Given the description of an element on the screen output the (x, y) to click on. 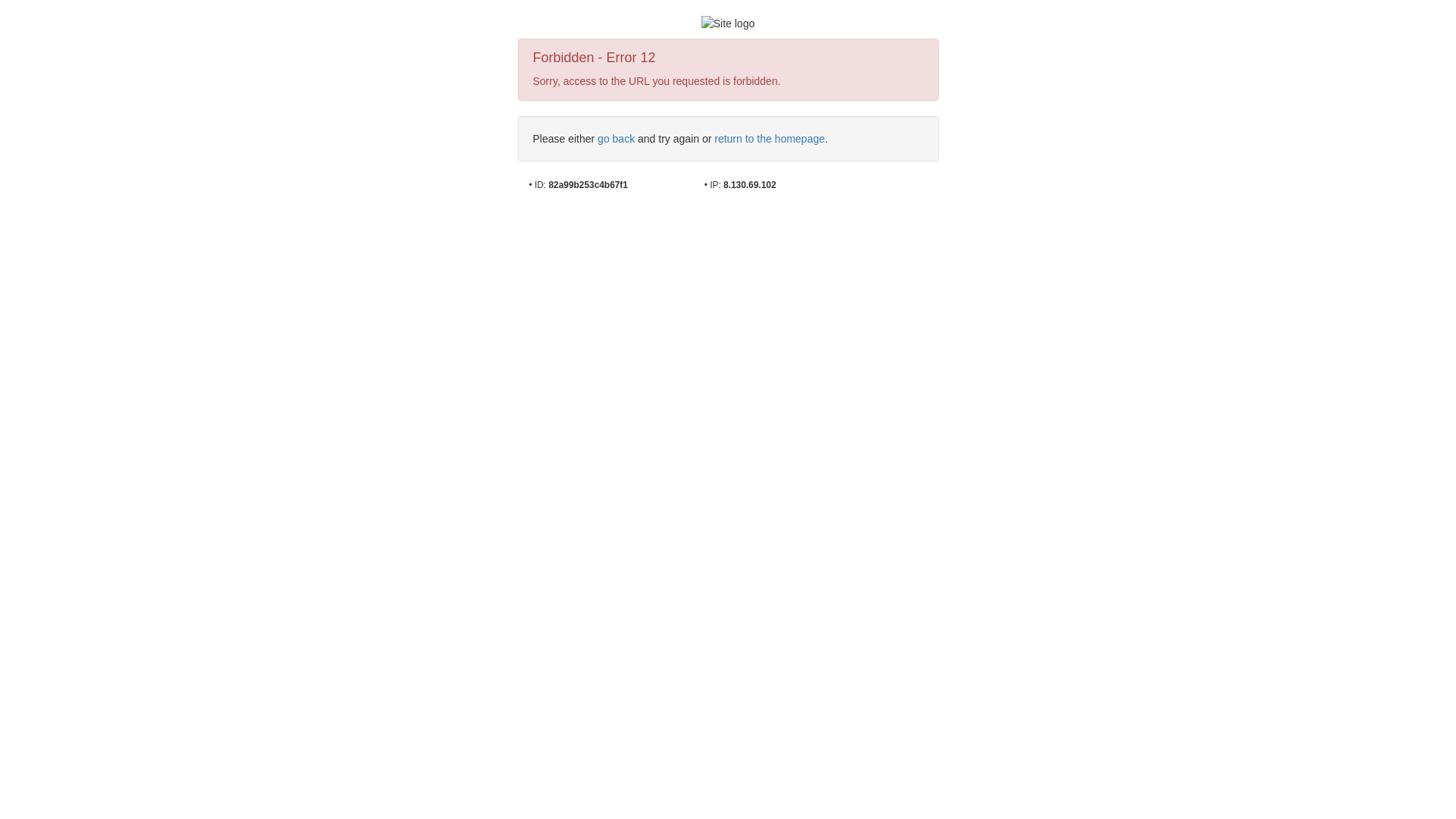
go back Element type: text (615, 138)
return to the homepage Element type: text (769, 138)
